Given the description of an element on the screen output the (x, y) to click on. 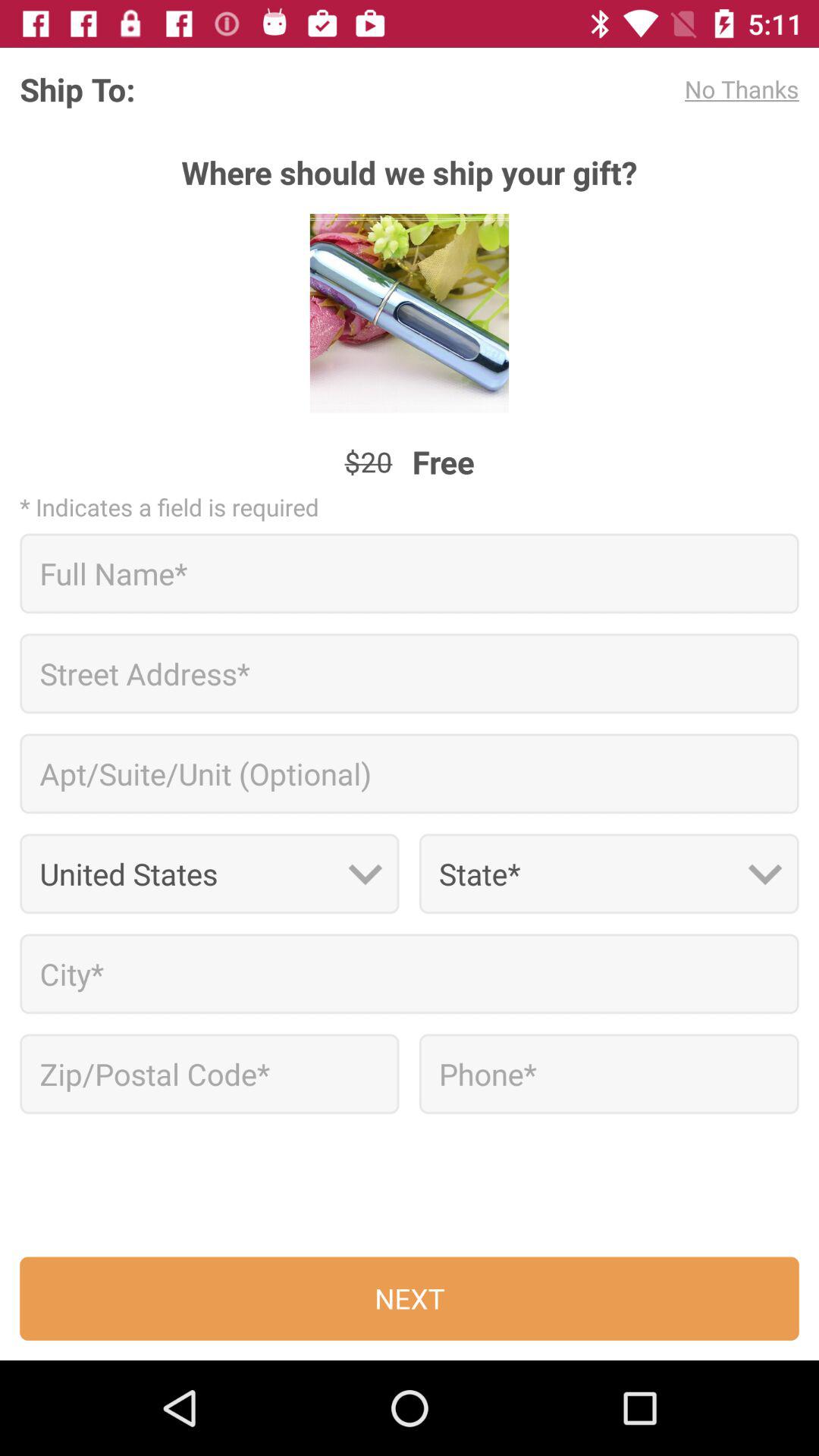
enter zip/postal code (209, 1073)
